Given the description of an element on the screen output the (x, y) to click on. 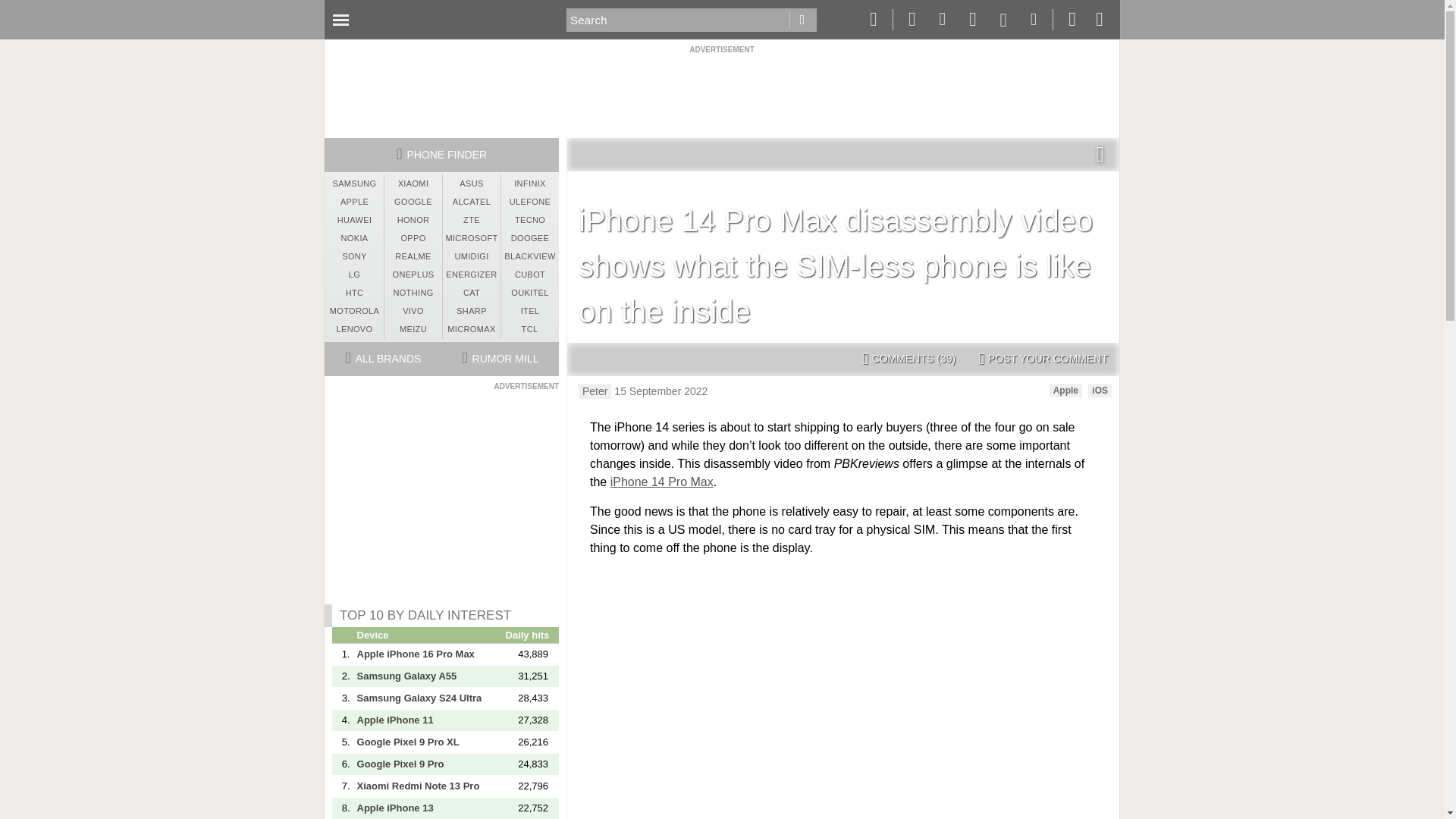
Go (802, 19)
iOS (1099, 390)
Apple (1065, 390)
Go (802, 19)
Peter (594, 391)
POST YOUR COMMENT (1042, 359)
iPhone 14 Pro Max (661, 481)
